Given the description of an element on the screen output the (x, y) to click on. 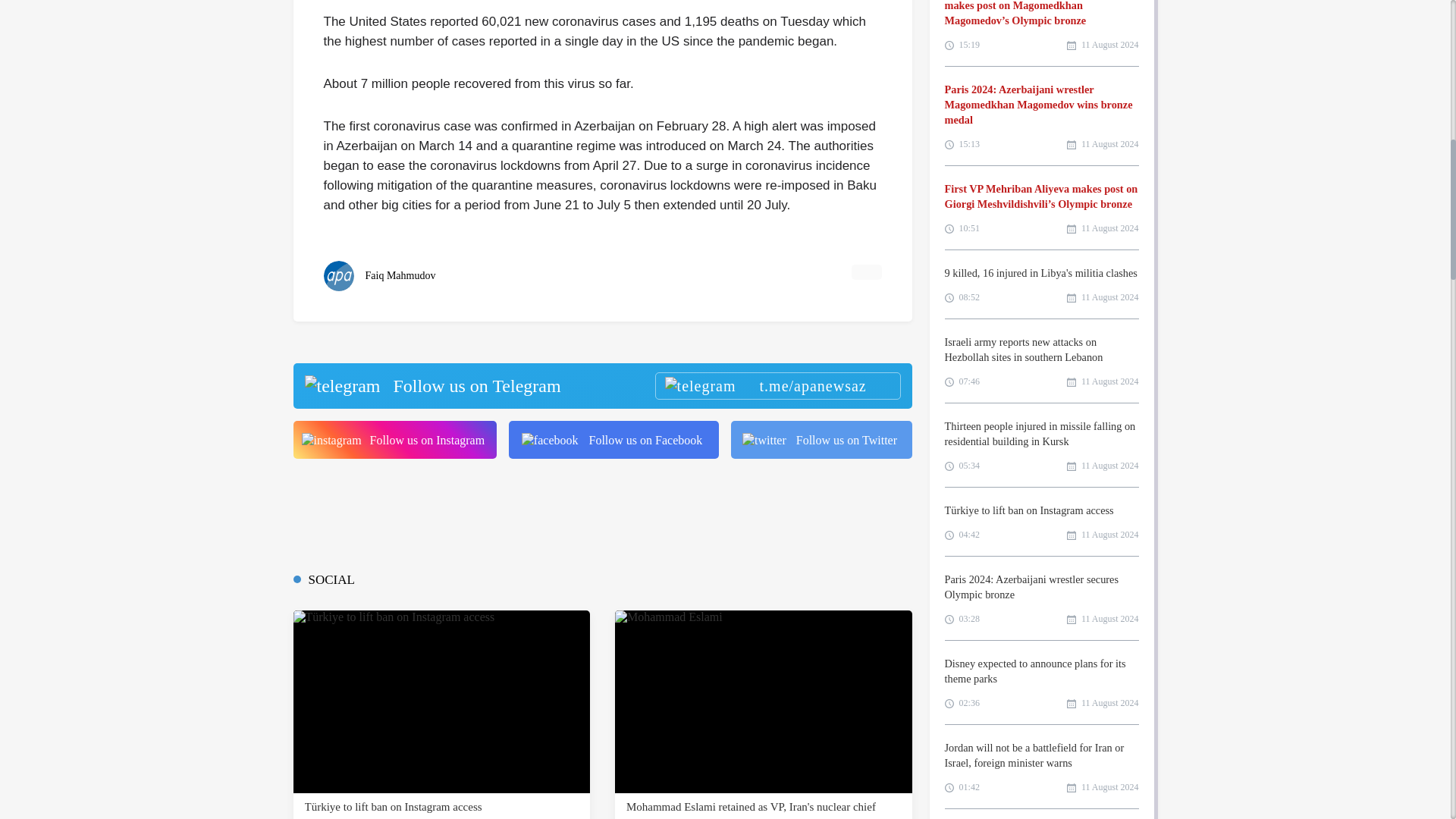
Follow us on Instagram (394, 439)
Follow us on Telegram (601, 385)
Follow us on Facebook (613, 439)
Follow us on Twitter (821, 439)
